Given the description of an element on the screen output the (x, y) to click on. 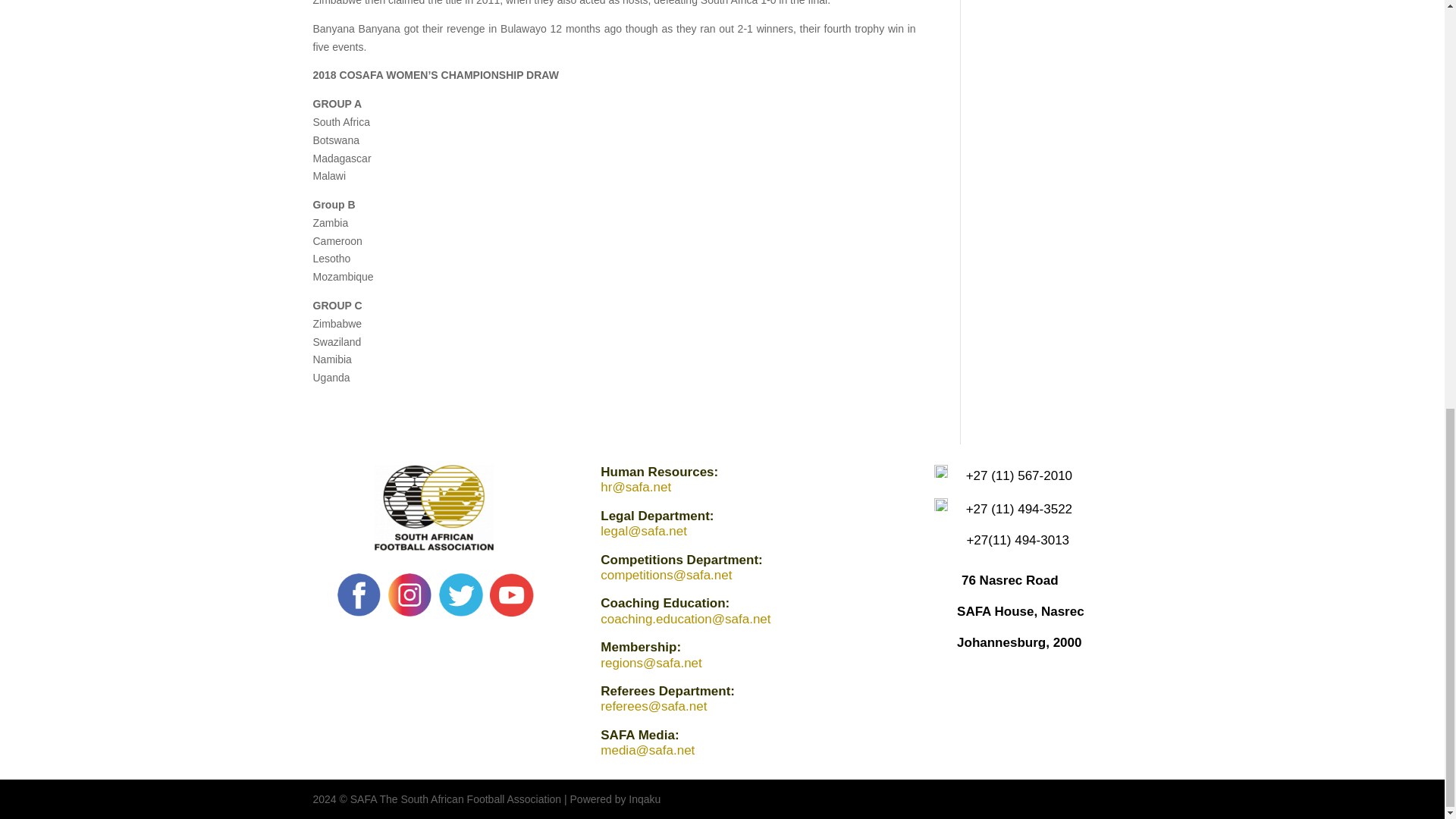
Johannesburg, 2000 (1018, 642)
76 Nasrec Road (1009, 580)
SAFA House, Nasrec (1020, 611)
